Given the description of an element on the screen output the (x, y) to click on. 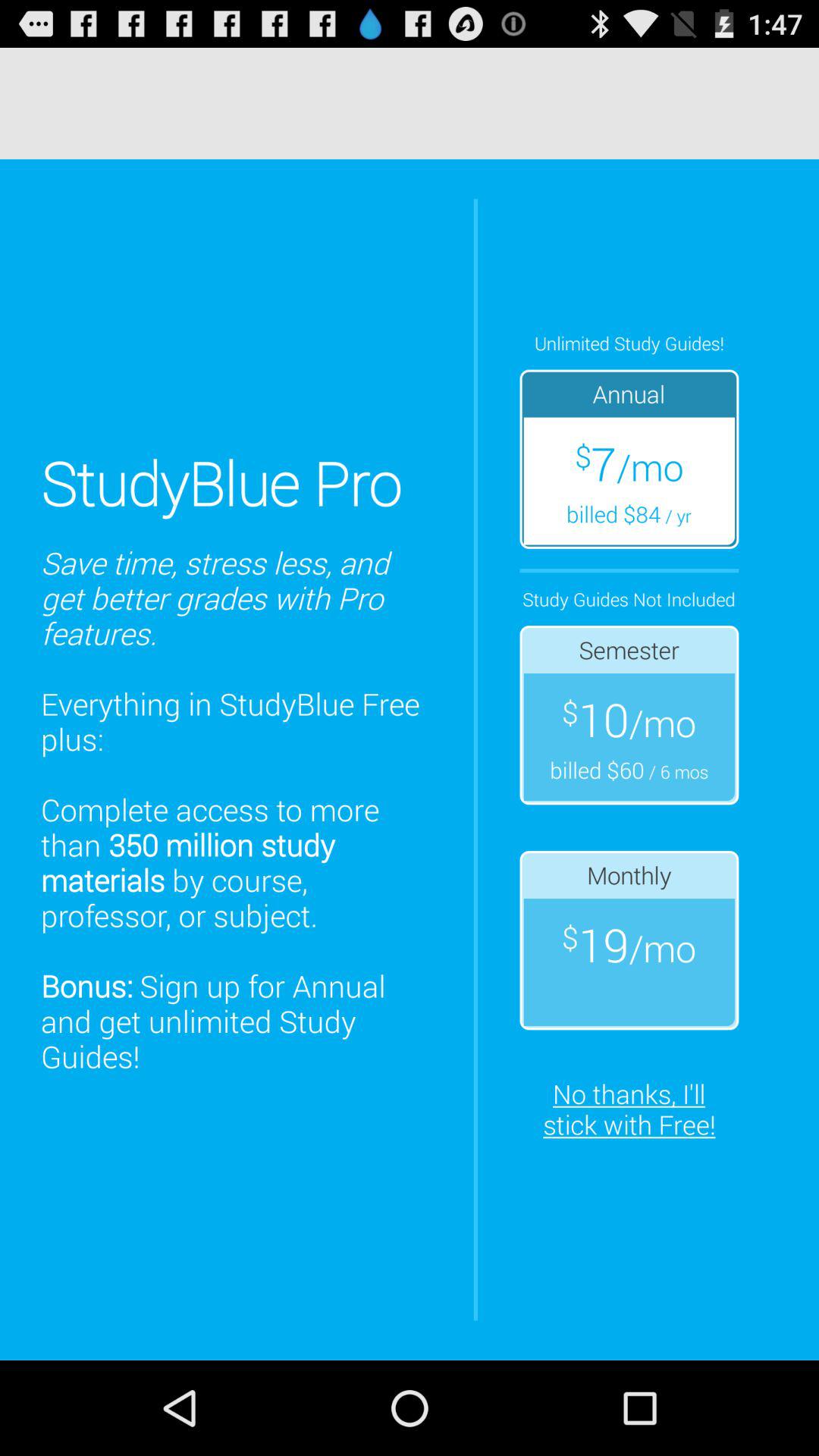
click on the text image option annual (629, 458)
select the text which is immediately below 19mo (628, 1108)
select the image which is above the text no thanksill stick with free (629, 939)
